Given the description of an element on the screen output the (x, y) to click on. 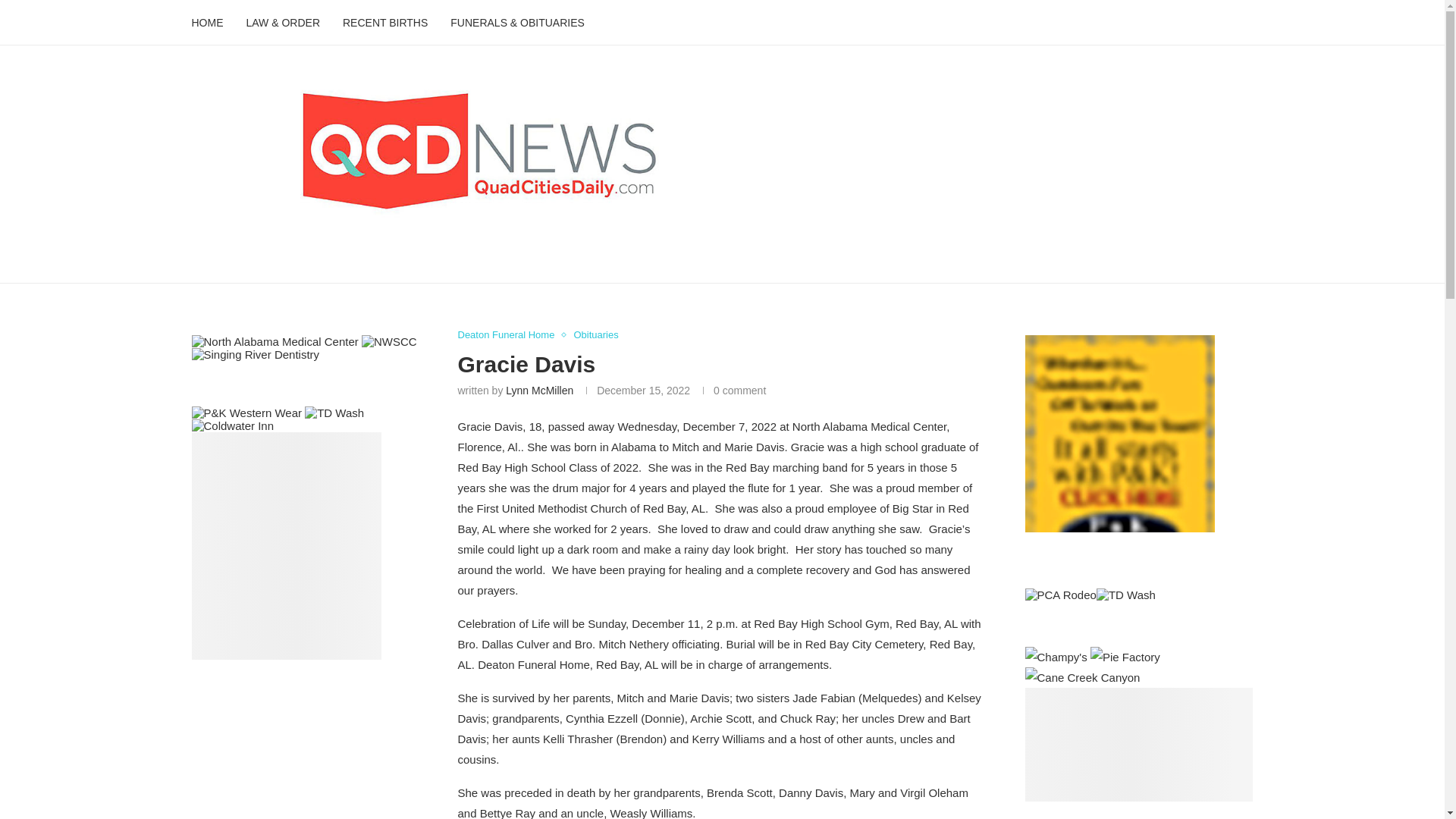
Lynn McMillen (539, 390)
RECENT BIRTHS (385, 22)
Deaton Funeral Home (510, 335)
Obituaries (595, 335)
